Given the description of an element on the screen output the (x, y) to click on. 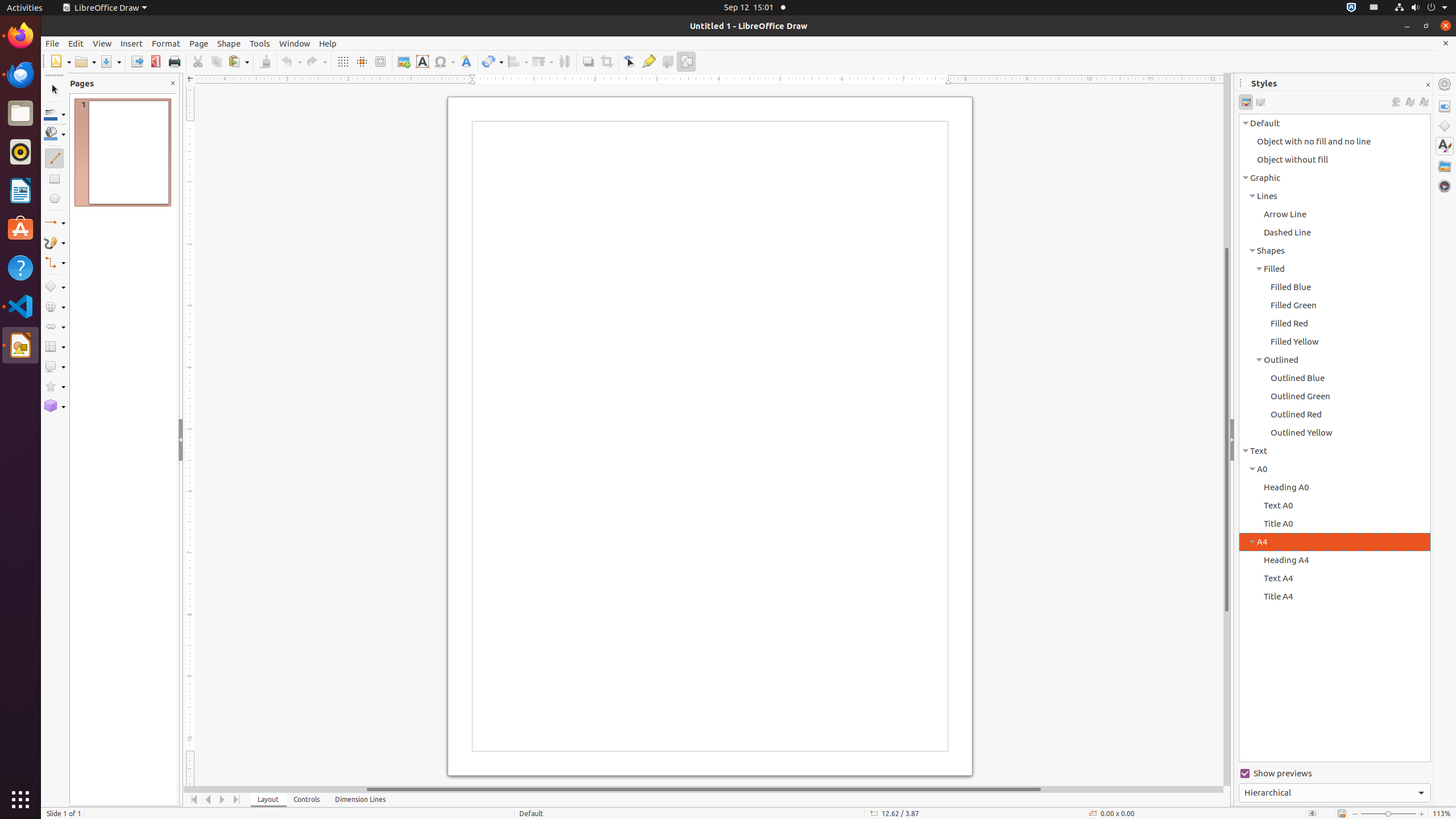
Vertical scroll bar Element type: scroll-bar (1226, 429)
Move To Home Element type: push-button (194, 799)
Move To End Element type: push-button (236, 799)
Clone Element type: push-button (264, 61)
Close Sidebar Deck Element type: push-button (1427, 84)
